Given the description of an element on the screen output the (x, y) to click on. 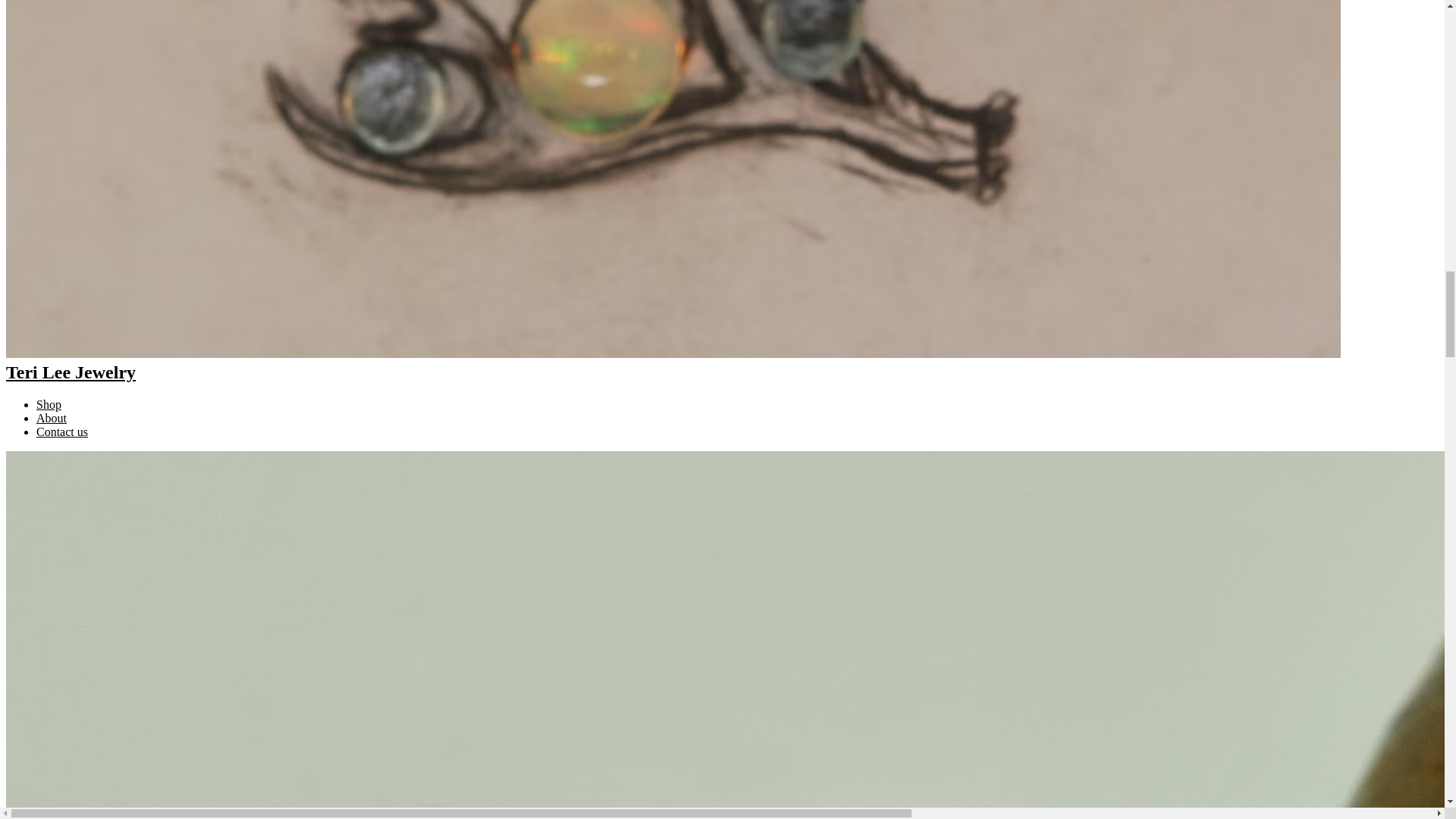
About (51, 418)
Shop (48, 404)
Contact us (61, 431)
